Given the description of an element on the screen output the (x, y) to click on. 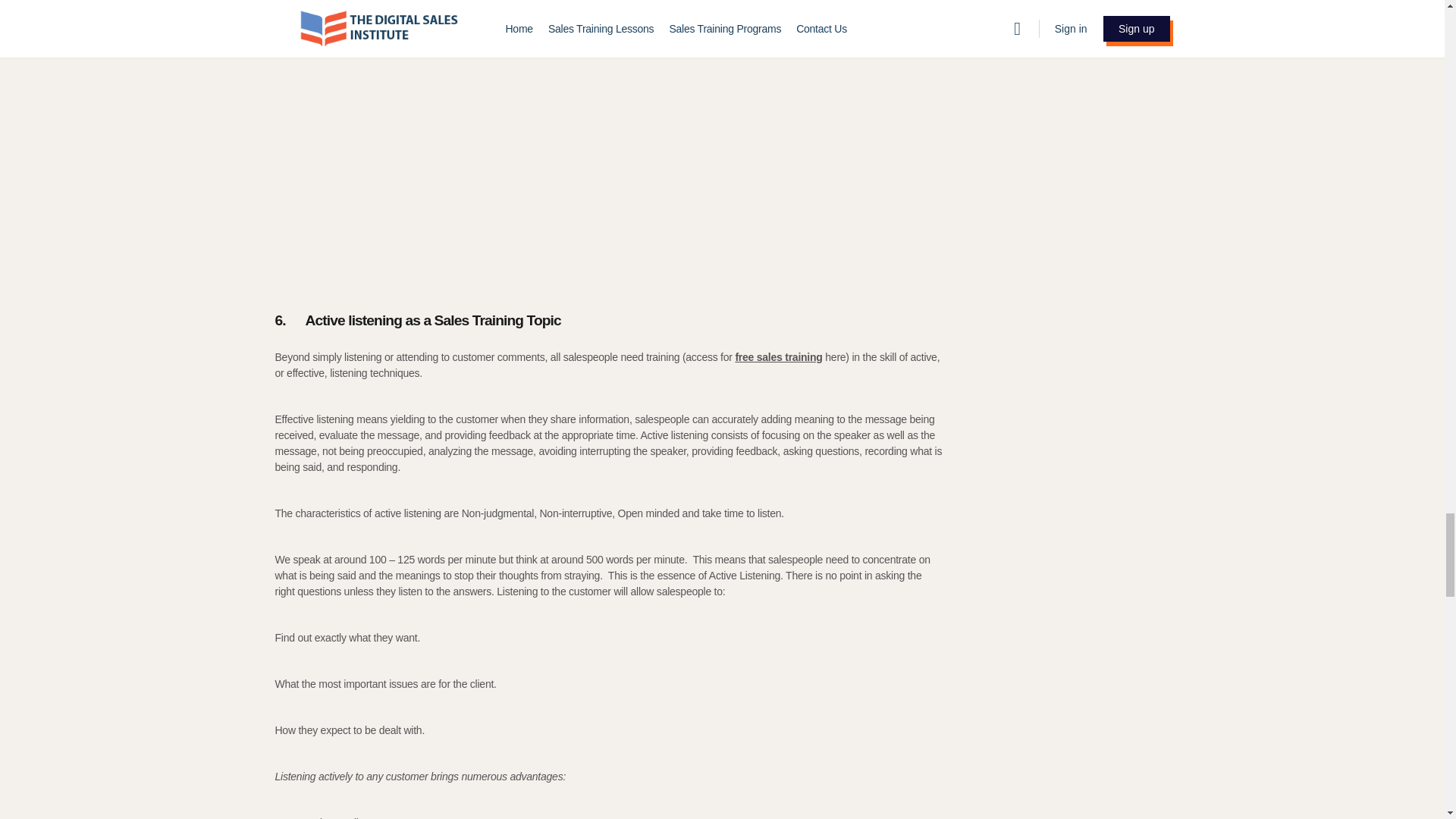
free sales training (778, 357)
YouTube video player (486, 156)
